Given the description of an element on the screen output the (x, y) to click on. 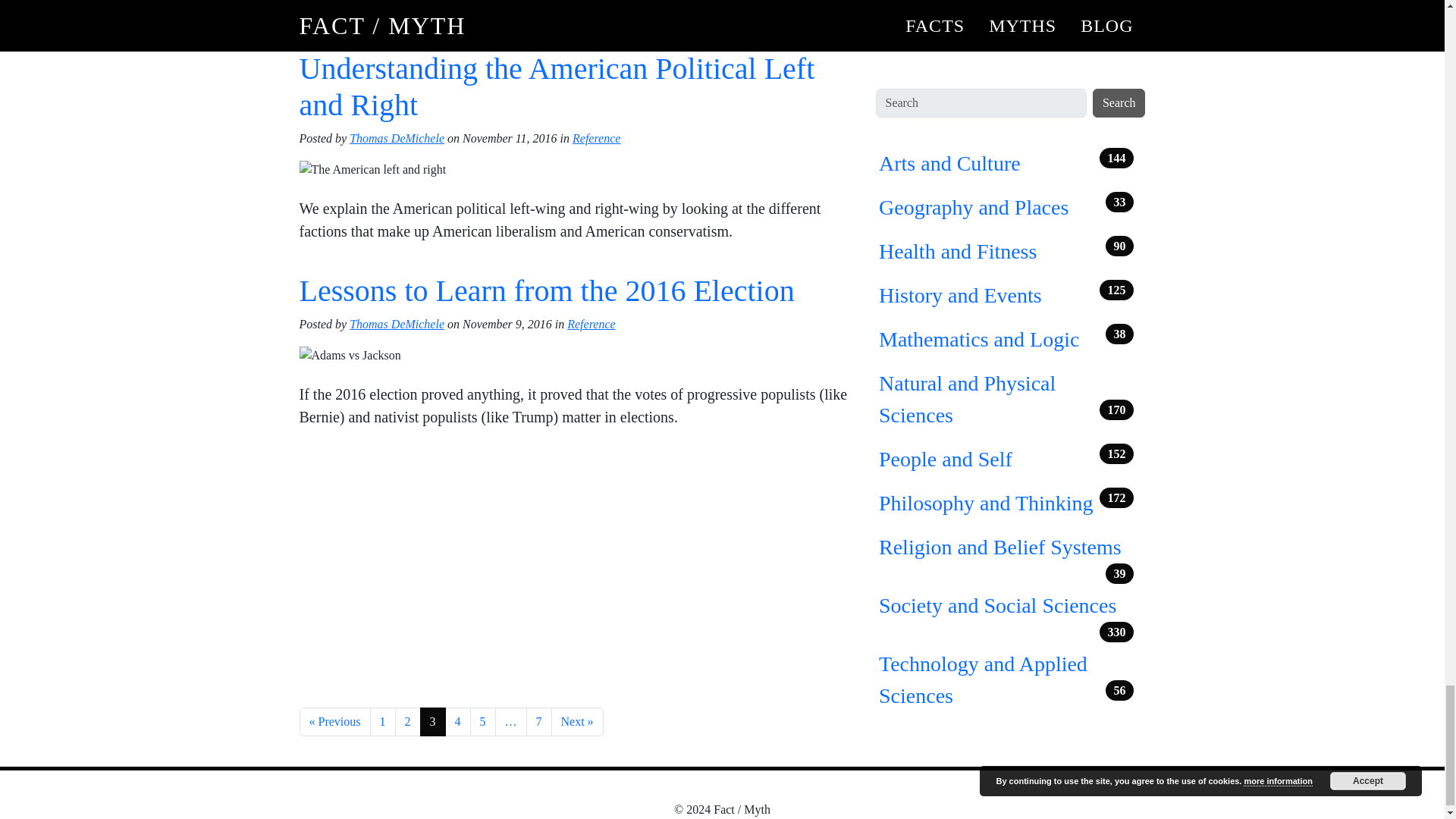
Posts by Thomas DeMichele (396, 323)
1 (382, 721)
Thomas DeMichele (396, 137)
Understanding the American Political Left and Right (555, 86)
Lessons to Learn from the 2016 Election (545, 290)
Posts by Thomas DeMichele (396, 137)
Reference (596, 137)
Reference (590, 323)
Thomas DeMichele (396, 323)
